Given the description of an element on the screen output the (x, y) to click on. 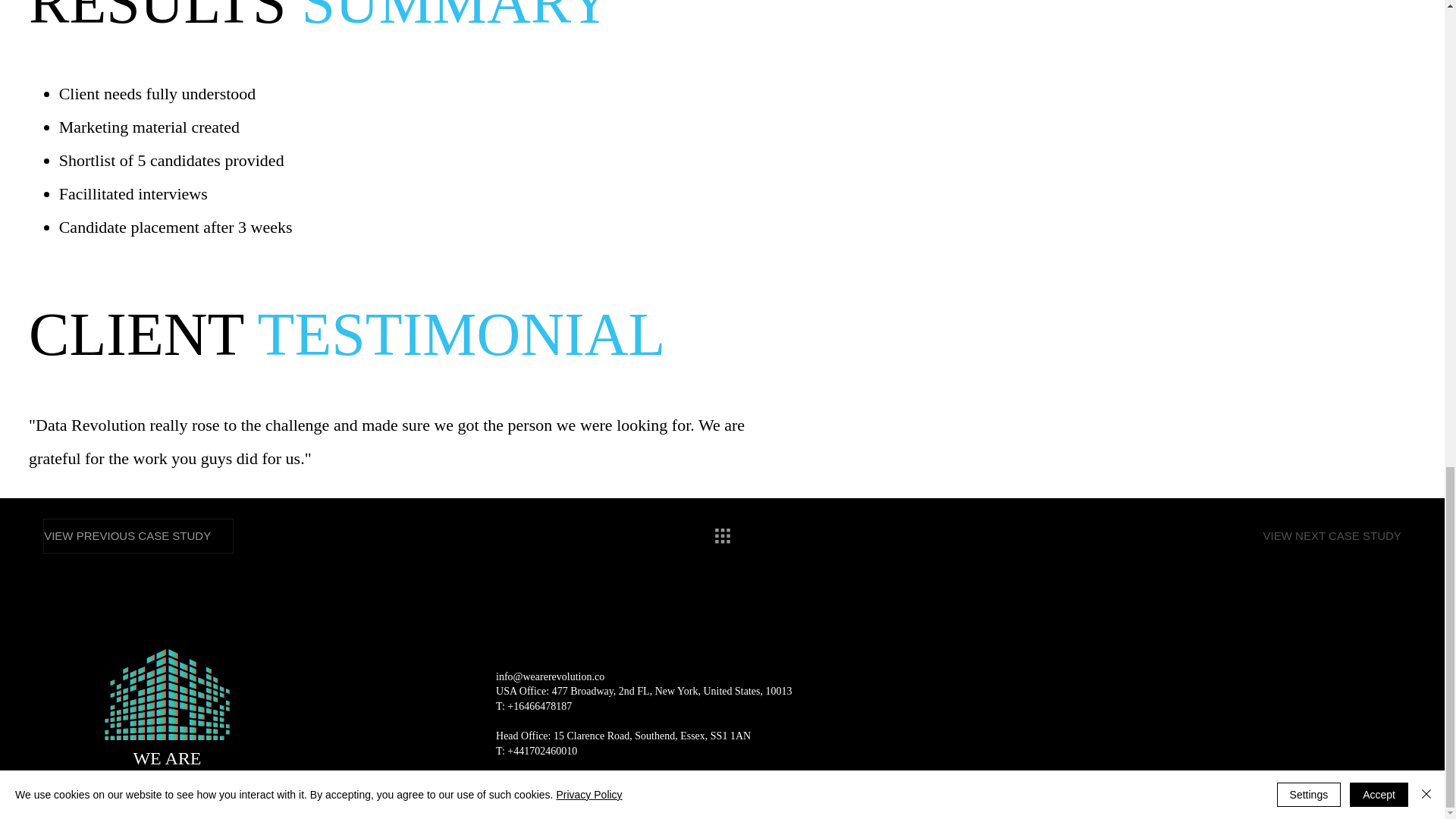
VIEW OUR PRIVACY POLICY (1013, 810)
VIEW PREVIOUS CASE STUDY (137, 535)
VIEW NEXT CASE STUDY (1327, 535)
MARSHALL ARTS (705, 810)
